Given the description of an element on the screen output the (x, y) to click on. 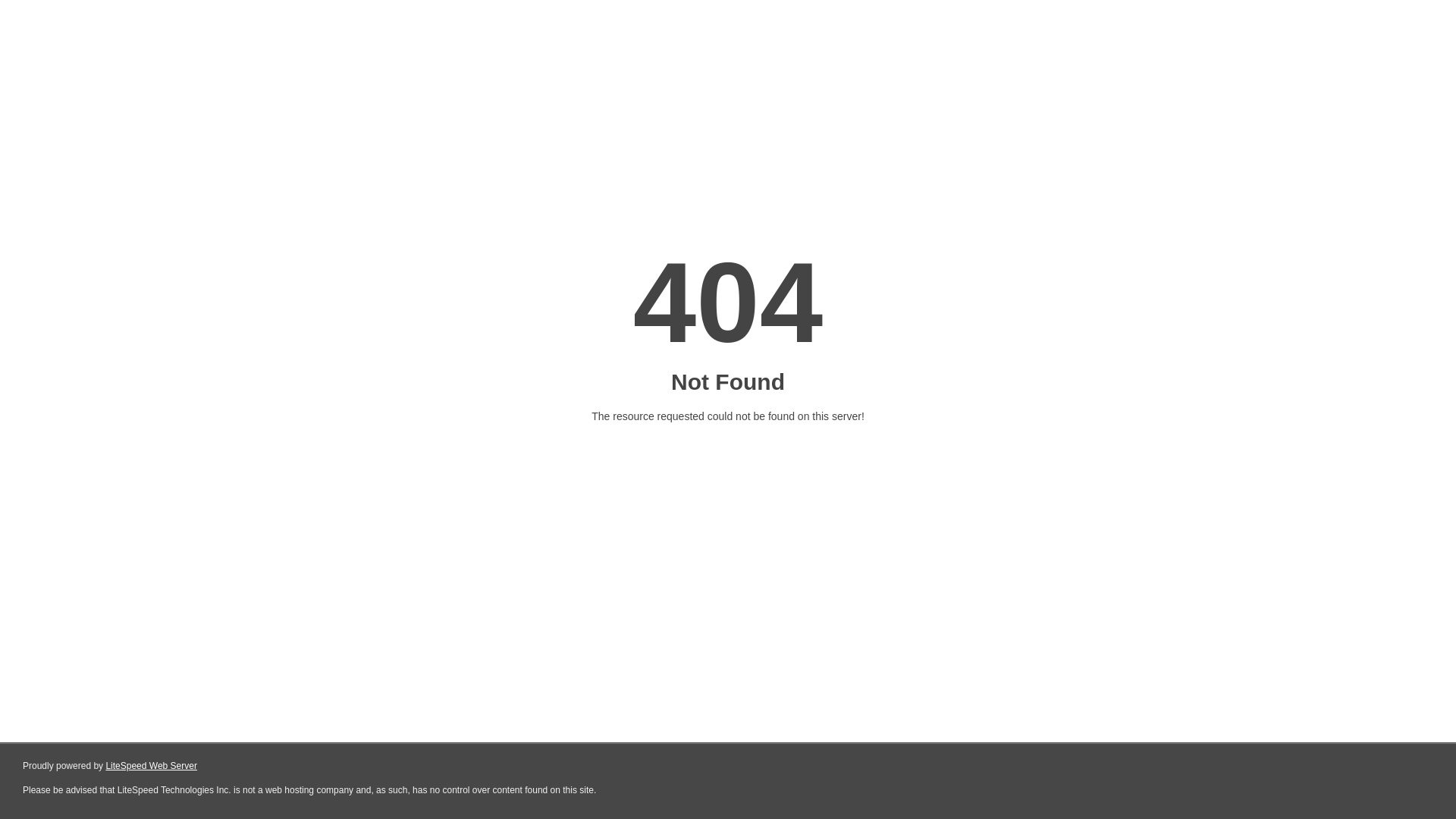
LiteSpeed Web Server Element type: text (151, 765)
